Given the description of an element on the screen output the (x, y) to click on. 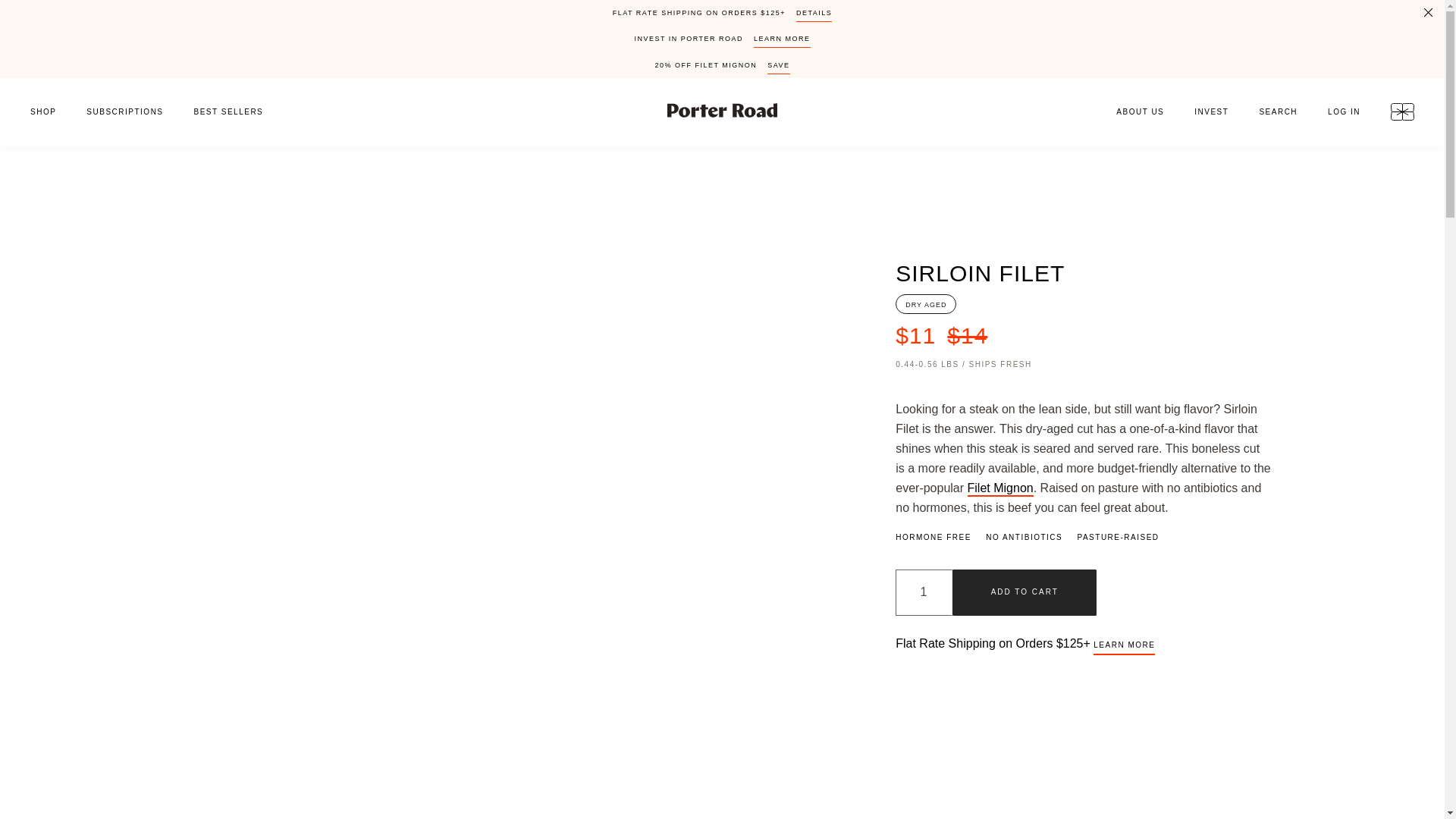
INVEST (1211, 111)
SUBSCRIPTIONS (124, 111)
LEARN MORE (782, 41)
SAVE (778, 67)
SHOP (35, 111)
BEST SELLERS (236, 111)
LOG IN (1344, 111)
ABOUT US (1132, 111)
SEARCH (1278, 111)
DETAILS (813, 15)
